Given the description of an element on the screen output the (x, y) to click on. 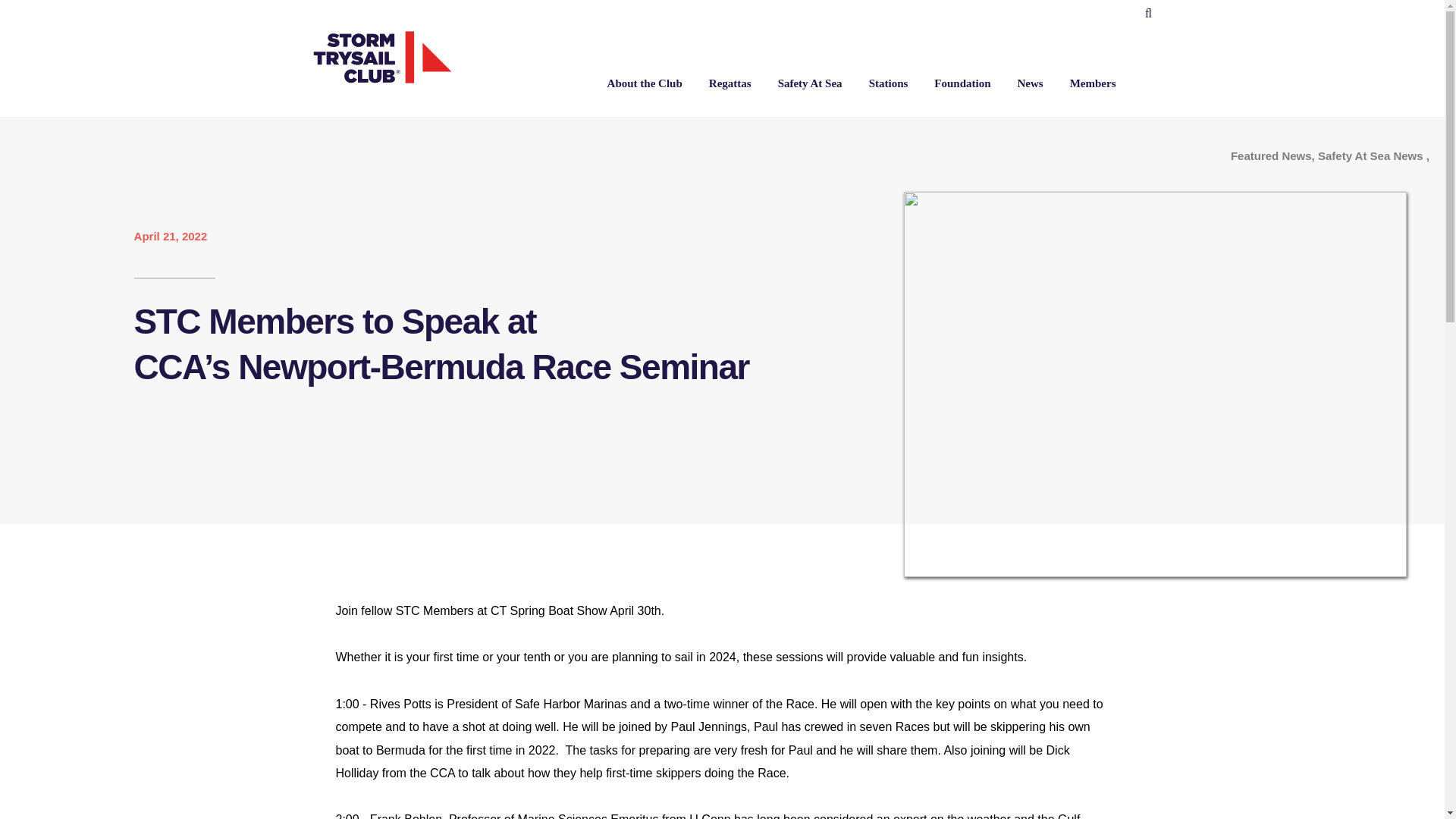
Foundation (962, 82)
Members (1093, 82)
News (1030, 82)
Stations (888, 82)
Safety At Sea (810, 82)
About the Club (644, 82)
Regattas (730, 82)
